Given the description of an element on the screen output the (x, y) to click on. 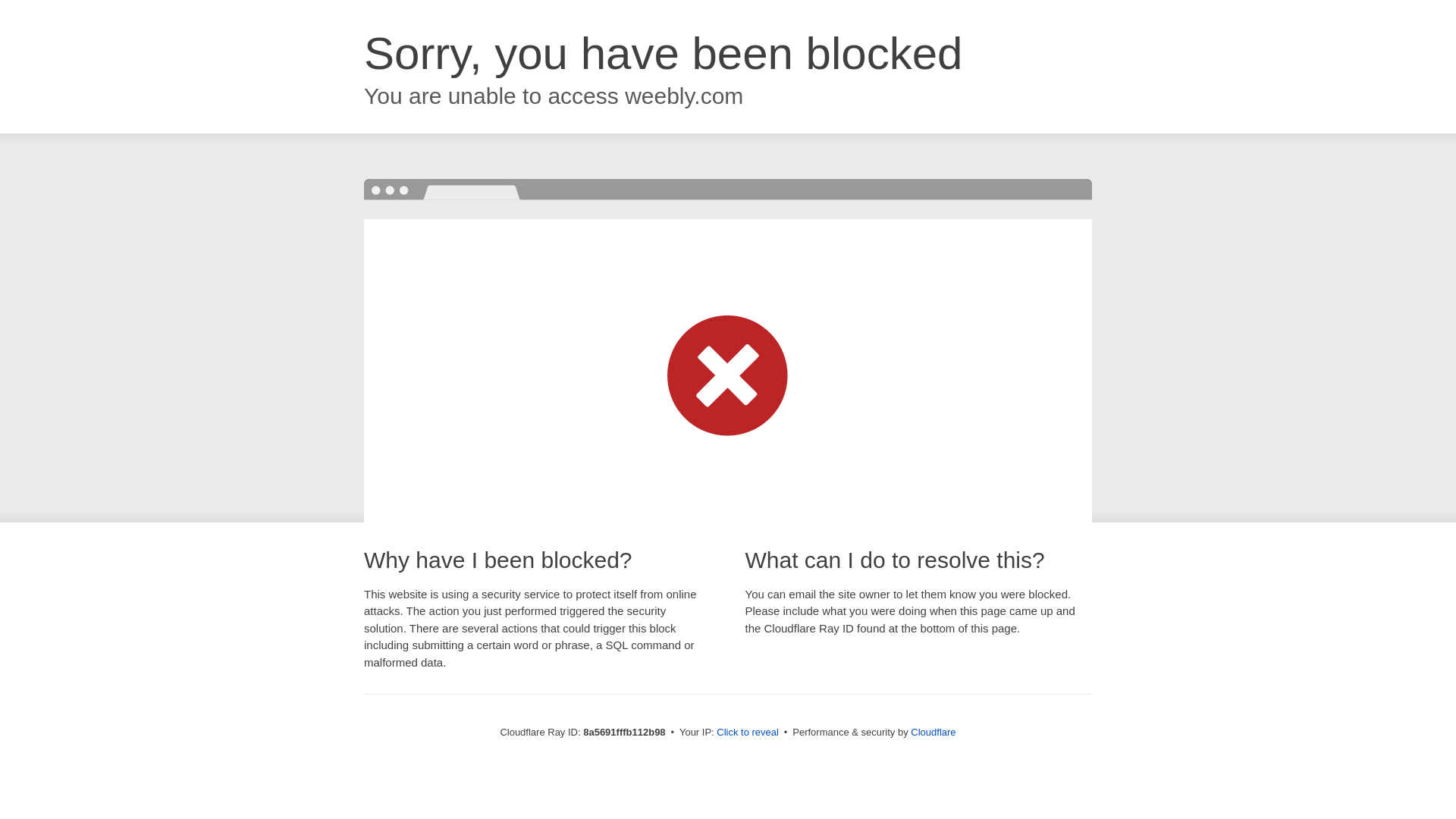
Cloudflare (933, 731)
Click to reveal (747, 732)
